Given the description of an element on the screen output the (x, y) to click on. 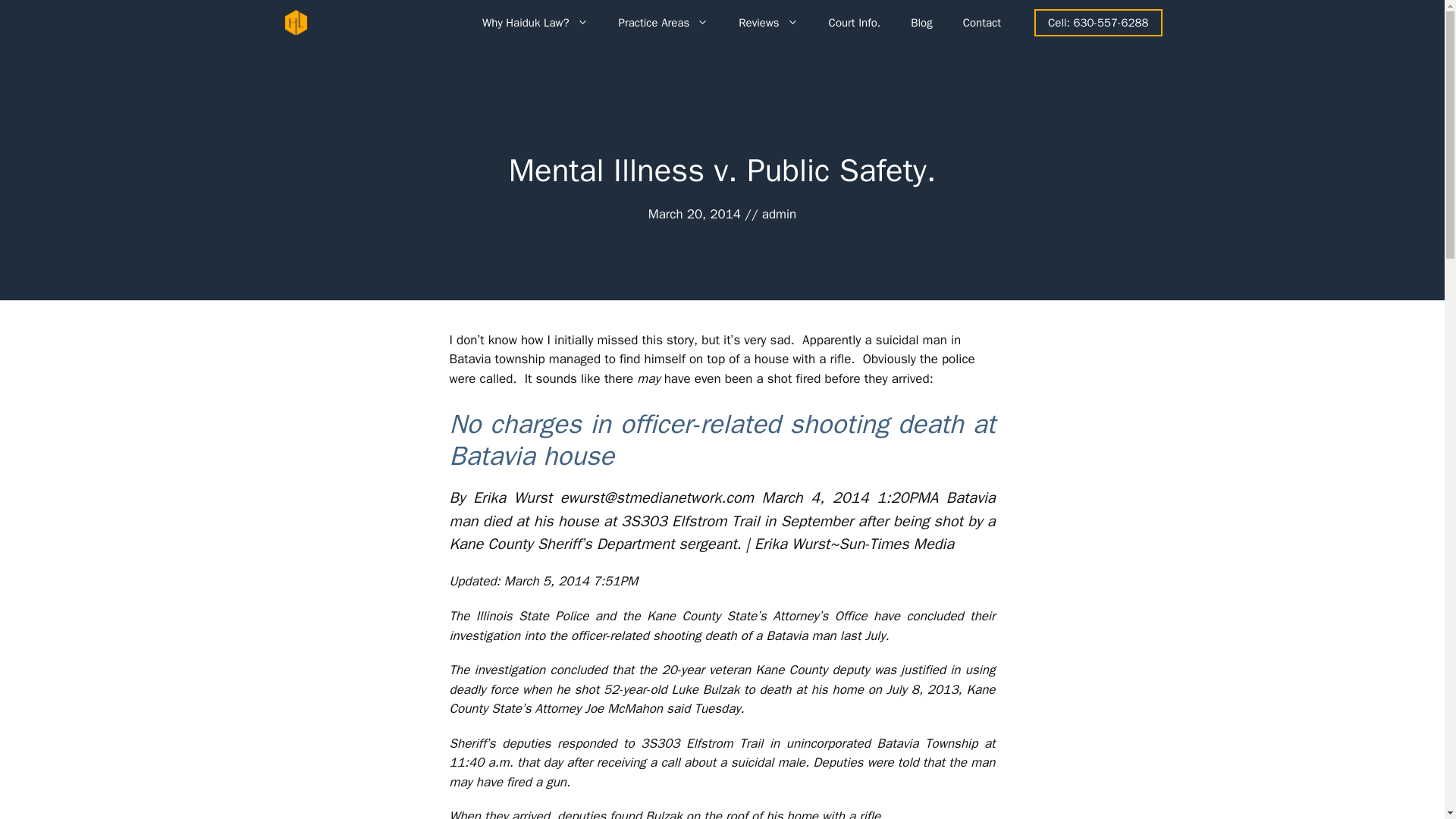
Why Haiduk Law? (534, 22)
admin (778, 213)
Reviews (767, 22)
Contact (981, 22)
Practice Areas (663, 22)
Blog (921, 22)
Court Info. (854, 22)
Cell: 630-557-6288 (1097, 22)
